Given the description of an element on the screen output the (x, y) to click on. 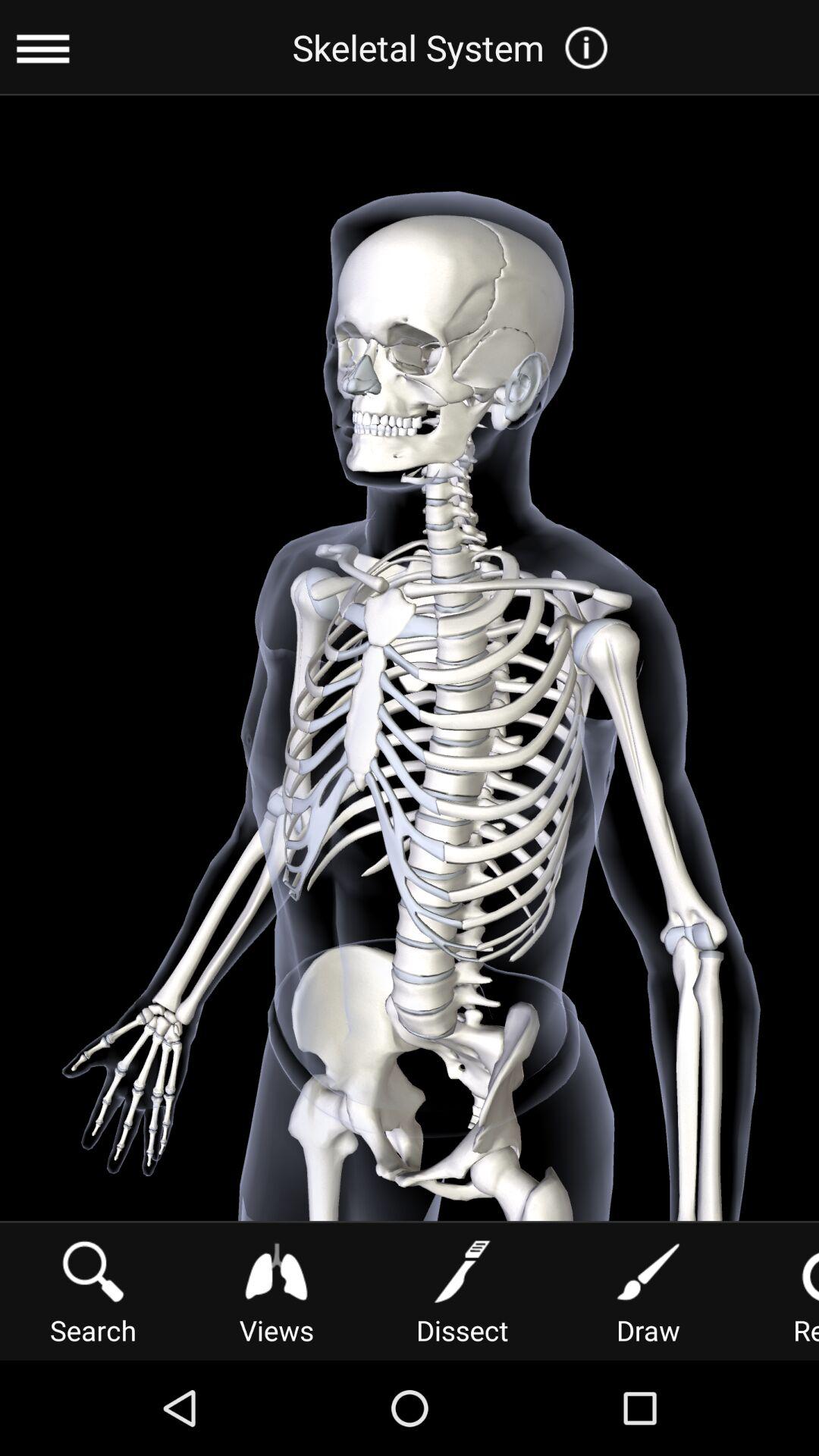
swipe until the search button (93, 1290)
